Given the description of an element on the screen output the (x, y) to click on. 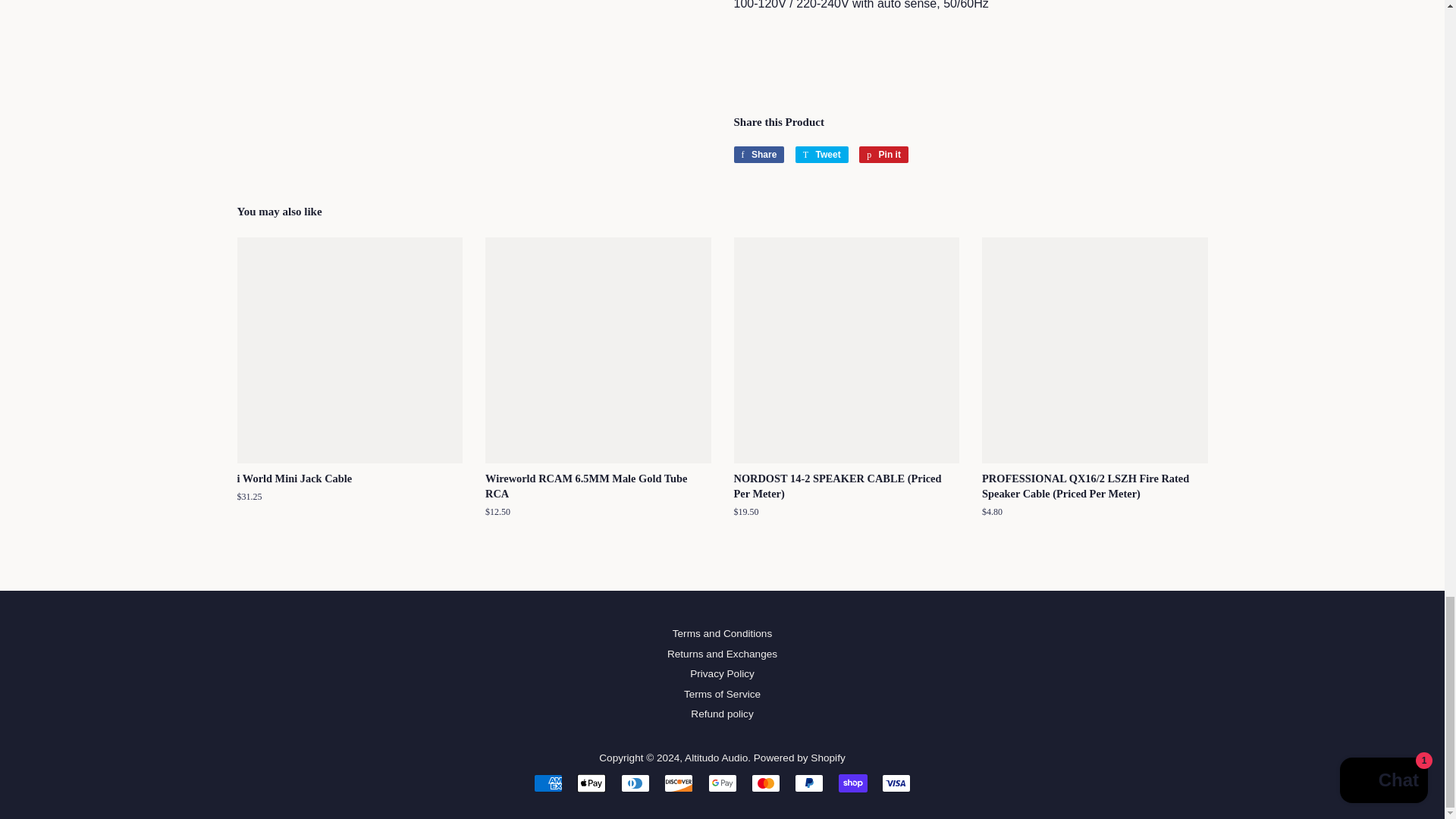
Share on Facebook (758, 154)
PayPal (809, 782)
Apple Pay (590, 782)
Visa (896, 782)
Discover (678, 782)
American Express (548, 782)
Pin on Pinterest (883, 154)
Shop Pay (852, 782)
Mastercard (765, 782)
Google Pay (721, 782)
Diners Club (635, 782)
Tweet on Twitter (821, 154)
